Given the description of an element on the screen output the (x, y) to click on. 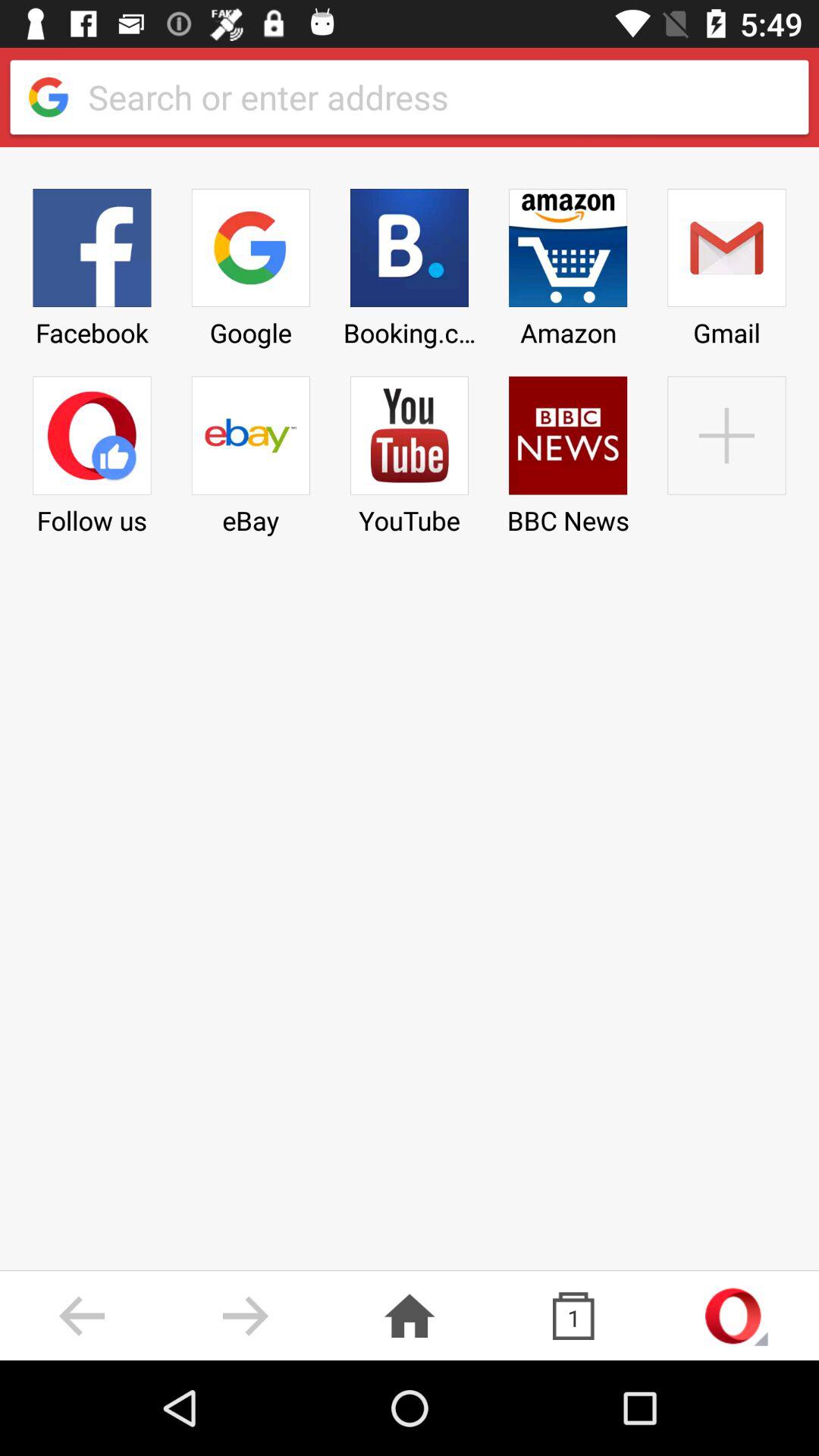
search bar (434, 97)
